Given the description of an element on the screen output the (x, y) to click on. 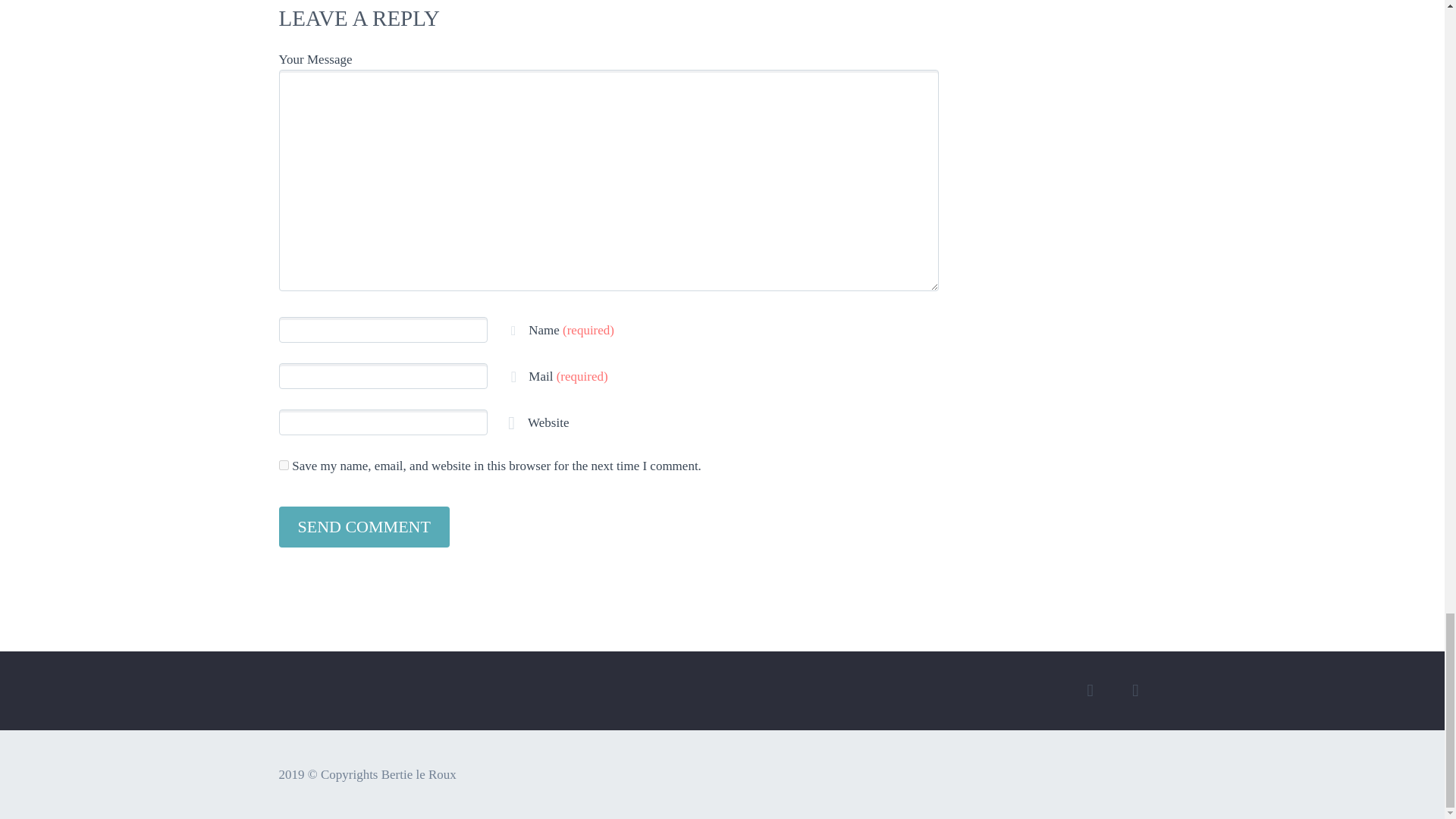
yes (283, 465)
Send Comment (364, 526)
